Given the description of an element on the screen output the (x, y) to click on. 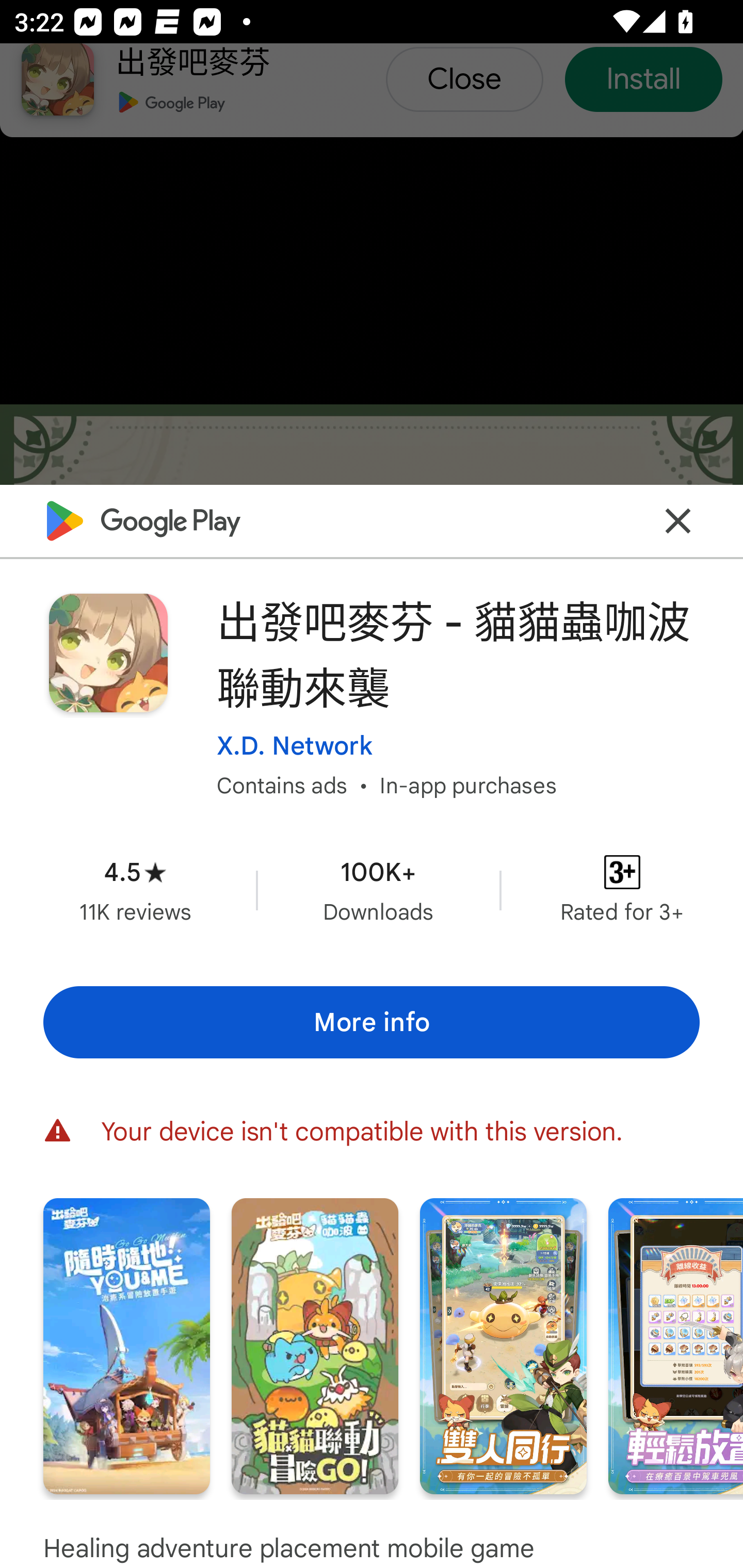
Close (677, 520)
Image of app or game icon for 出發吧麥芬 - 貓貓蟲咖波聯動來襲 (108, 653)
X.D. Network (294, 745)
More info (371, 1022)
Screenshot "1" of "8" (126, 1345)
Screenshot "2" of "8" (314, 1345)
Screenshot "3" of "8" (502, 1345)
Screenshot "4" of "8" (675, 1345)
